Given the description of an element on the screen output the (x, y) to click on. 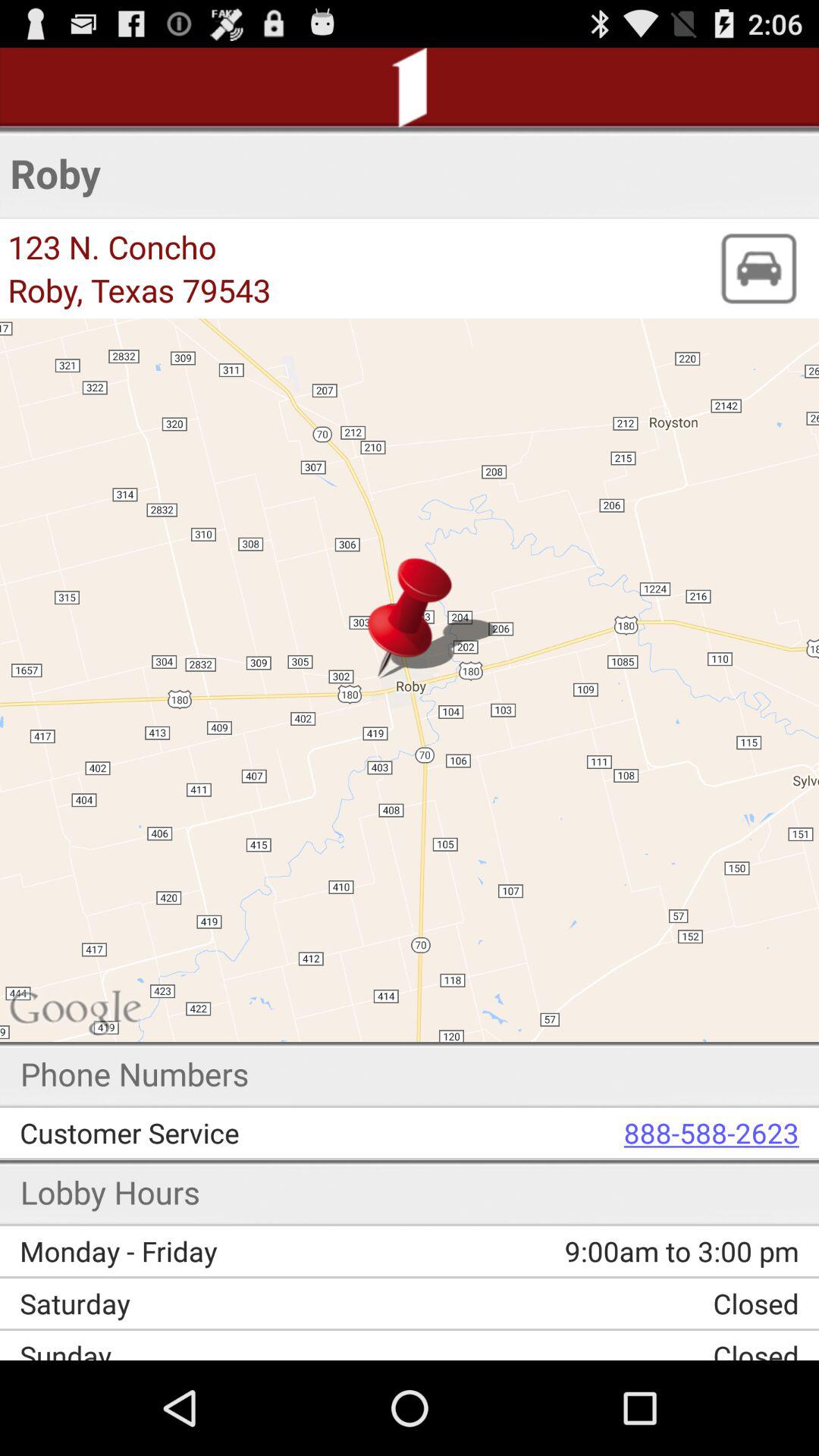
turn on the app below the monday - friday (220, 1303)
